Given the description of an element on the screen output the (x, y) to click on. 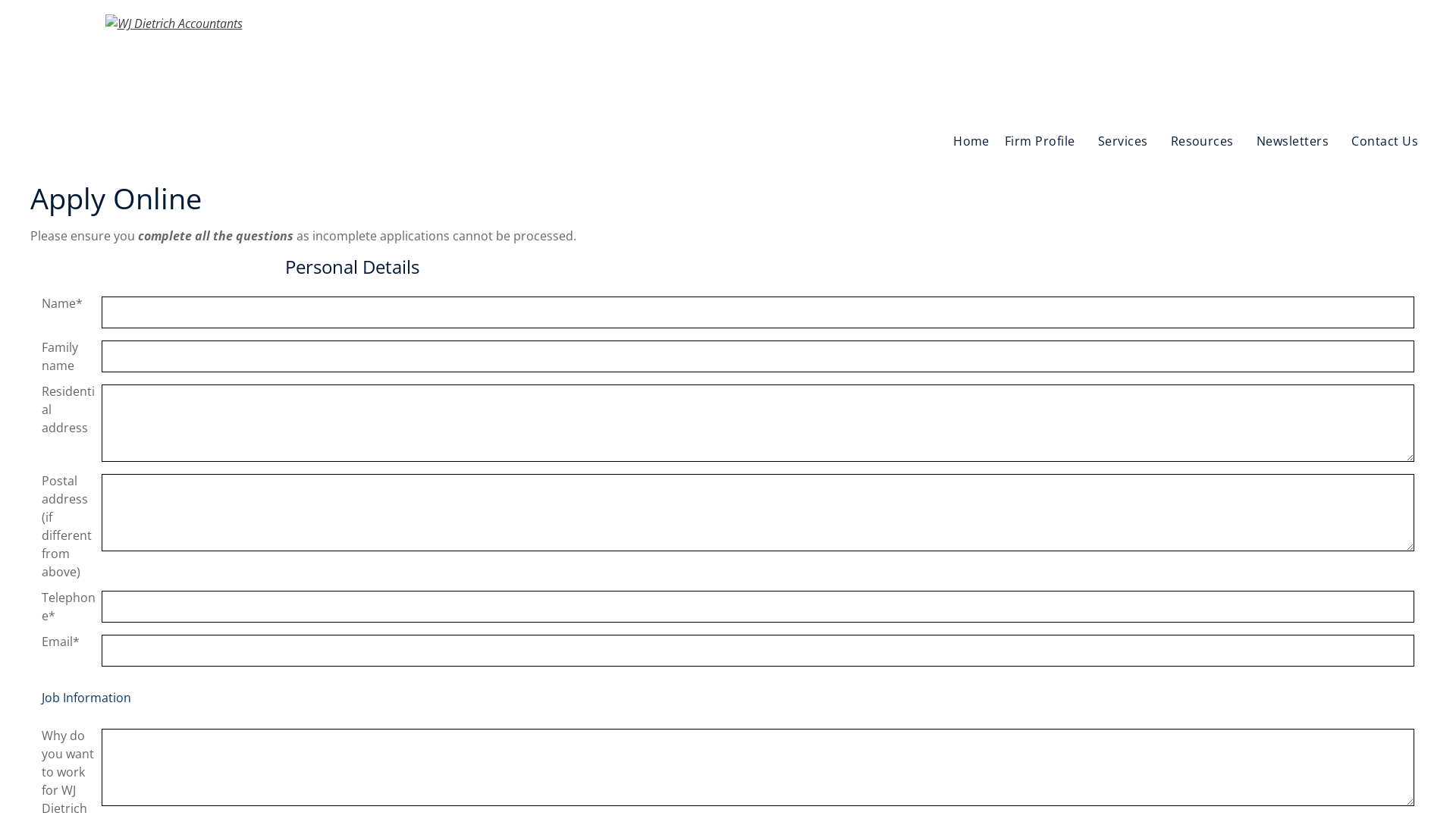
Services Element type: text (1126, 140)
Contact Us Element type: text (1388, 140)
Resources Element type: text (1205, 140)
Firm Profile Element type: text (1043, 140)
Newsletters Element type: text (1295, 140)
Home Element type: text (971, 140)
WJ Dietrich Accountants Element type: hover (172, 23)
